Given the description of an element on the screen output the (x, y) to click on. 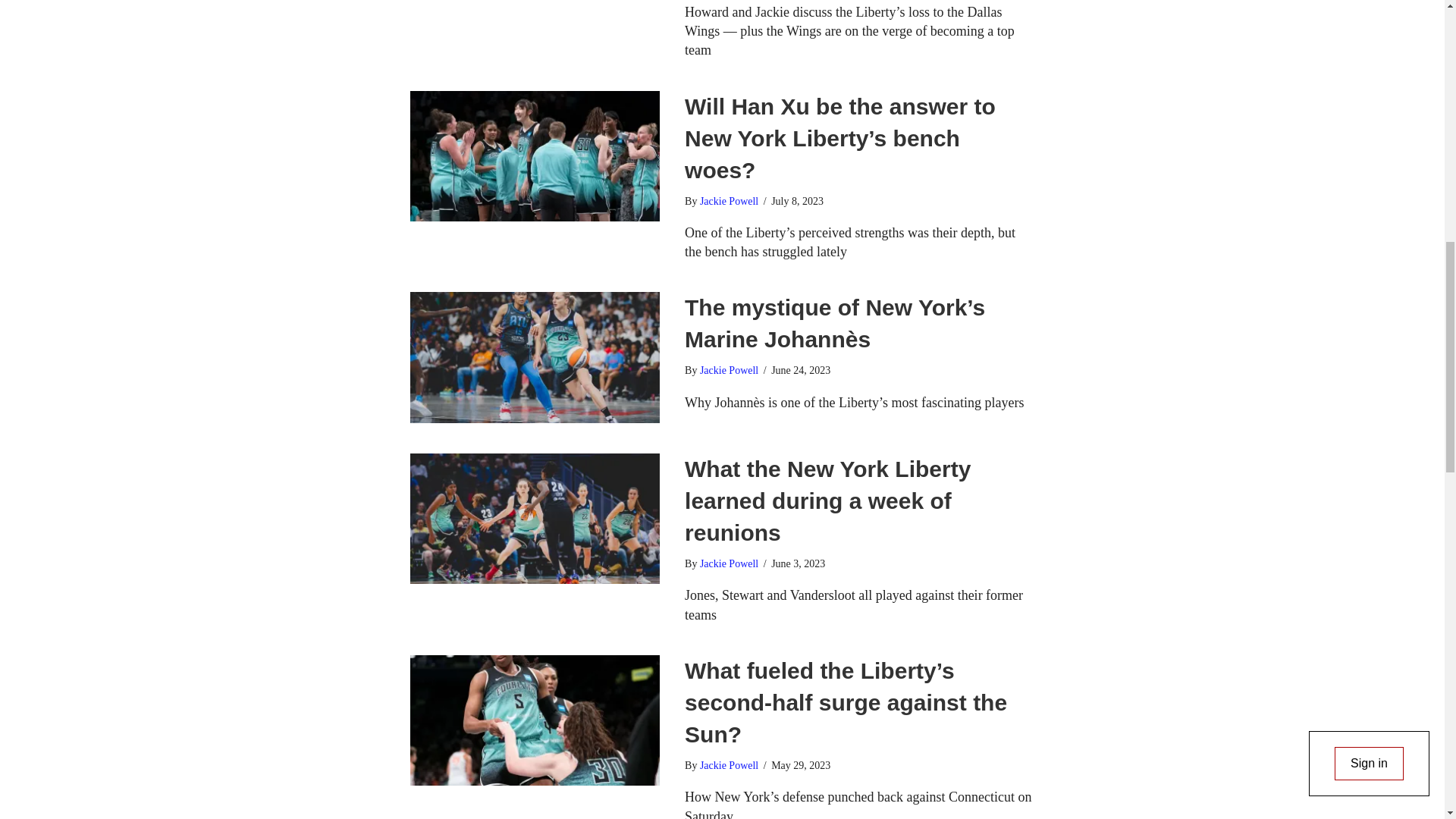
What the New York Liberty learned during a week of reunions (534, 516)
What the New York Liberty learned during a week of reunions (827, 500)
